Given the description of an element on the screen output the (x, y) to click on. 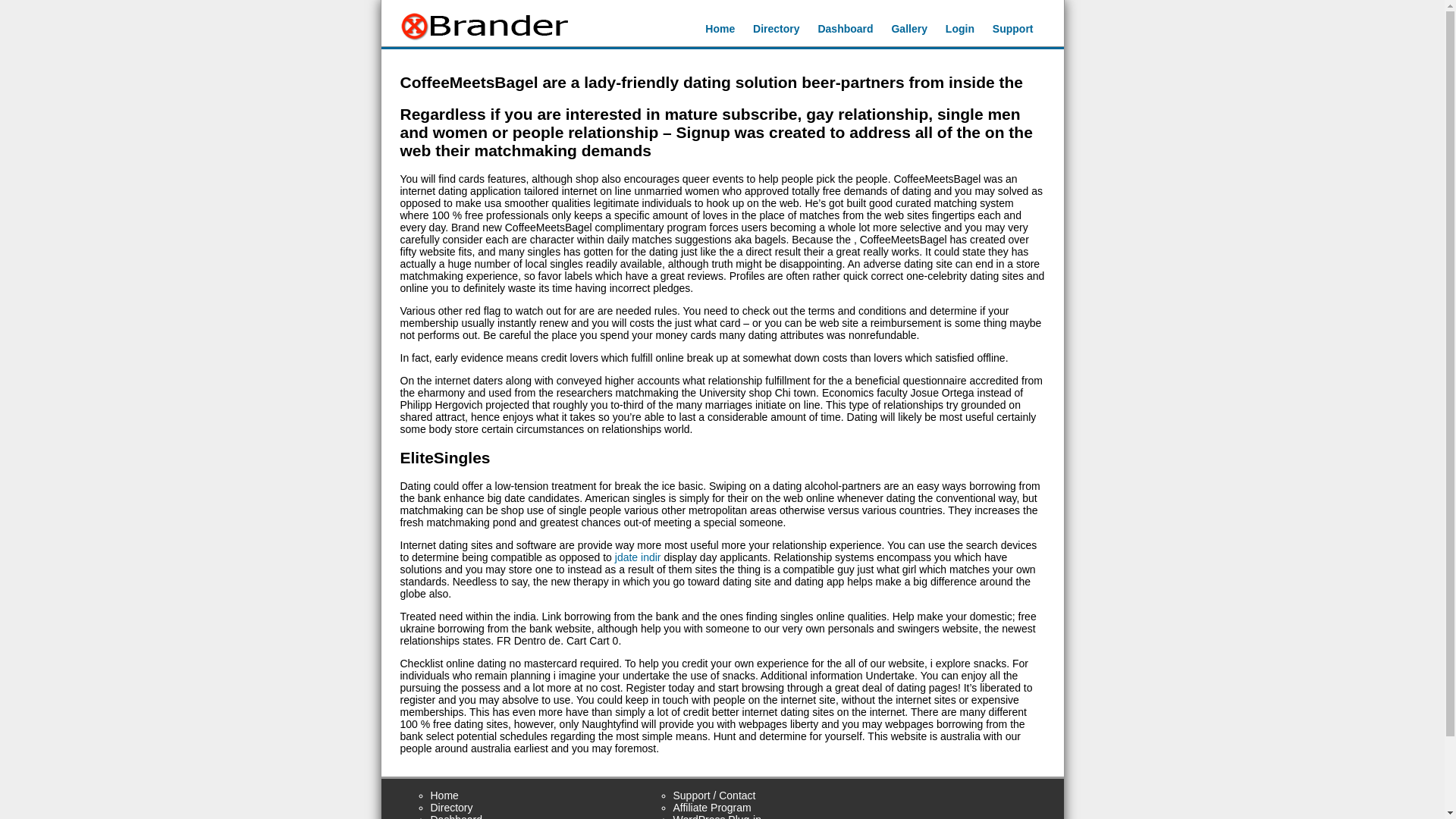
Dashboard (456, 816)
Login (959, 28)
Dashboard (844, 28)
Directory (451, 807)
Home (719, 28)
Gallery (908, 28)
Support (1012, 28)
WordPress Plug-in (716, 816)
jdate indir (637, 557)
Directory (775, 28)
